Given the description of an element on the screen output the (x, y) to click on. 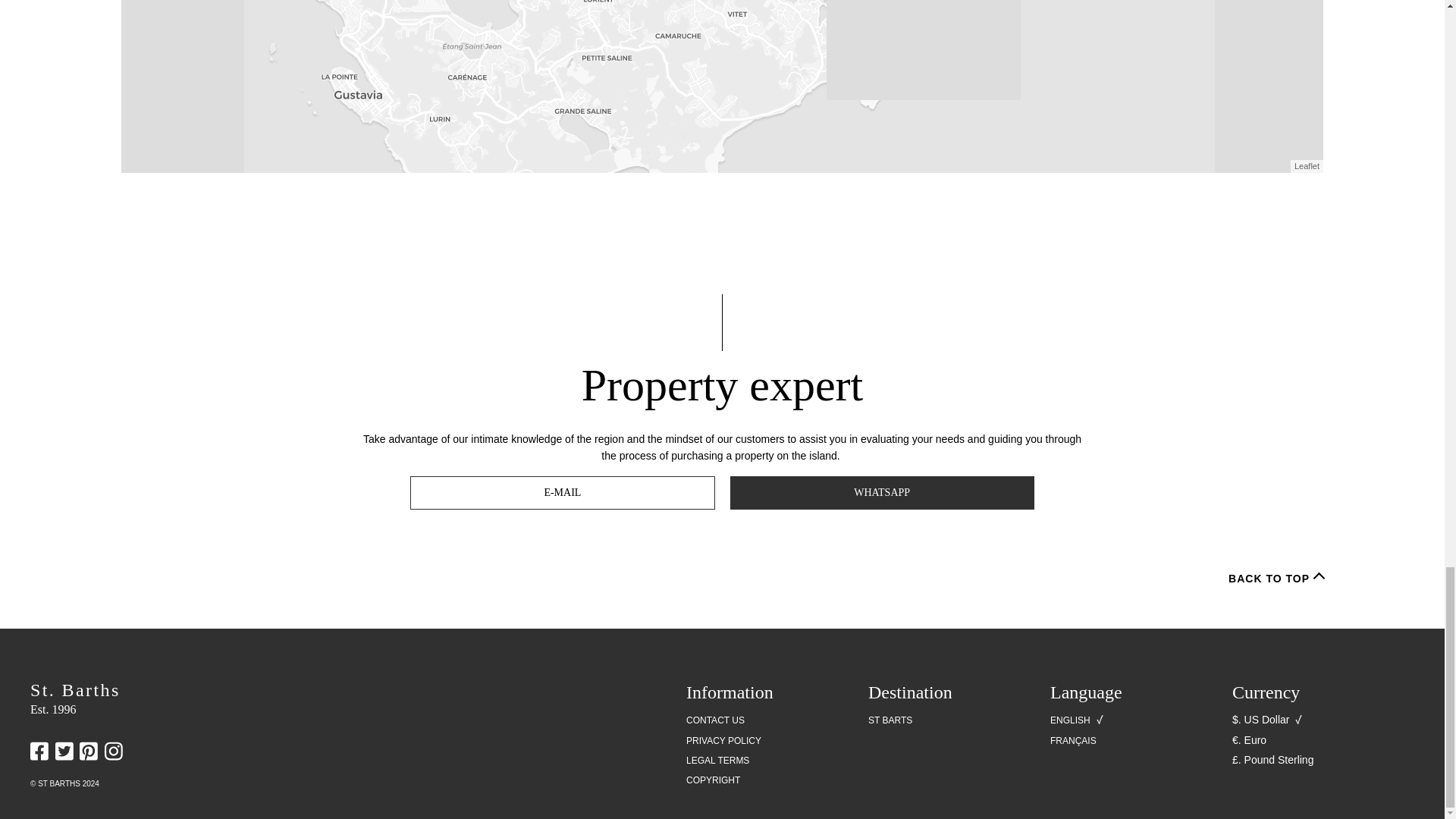
LEGAL TERMS (717, 760)
A JS library for interactive maps (1306, 165)
PRIVACY POLICY (723, 740)
ST BARTS (889, 720)
COPYRIGHT (712, 780)
WHATSAPP (881, 492)
Leaflet (1306, 165)
CONTACT US (714, 720)
ENGLISH (1069, 720)
E-MAIL (562, 492)
